Given the description of an element on the screen output the (x, y) to click on. 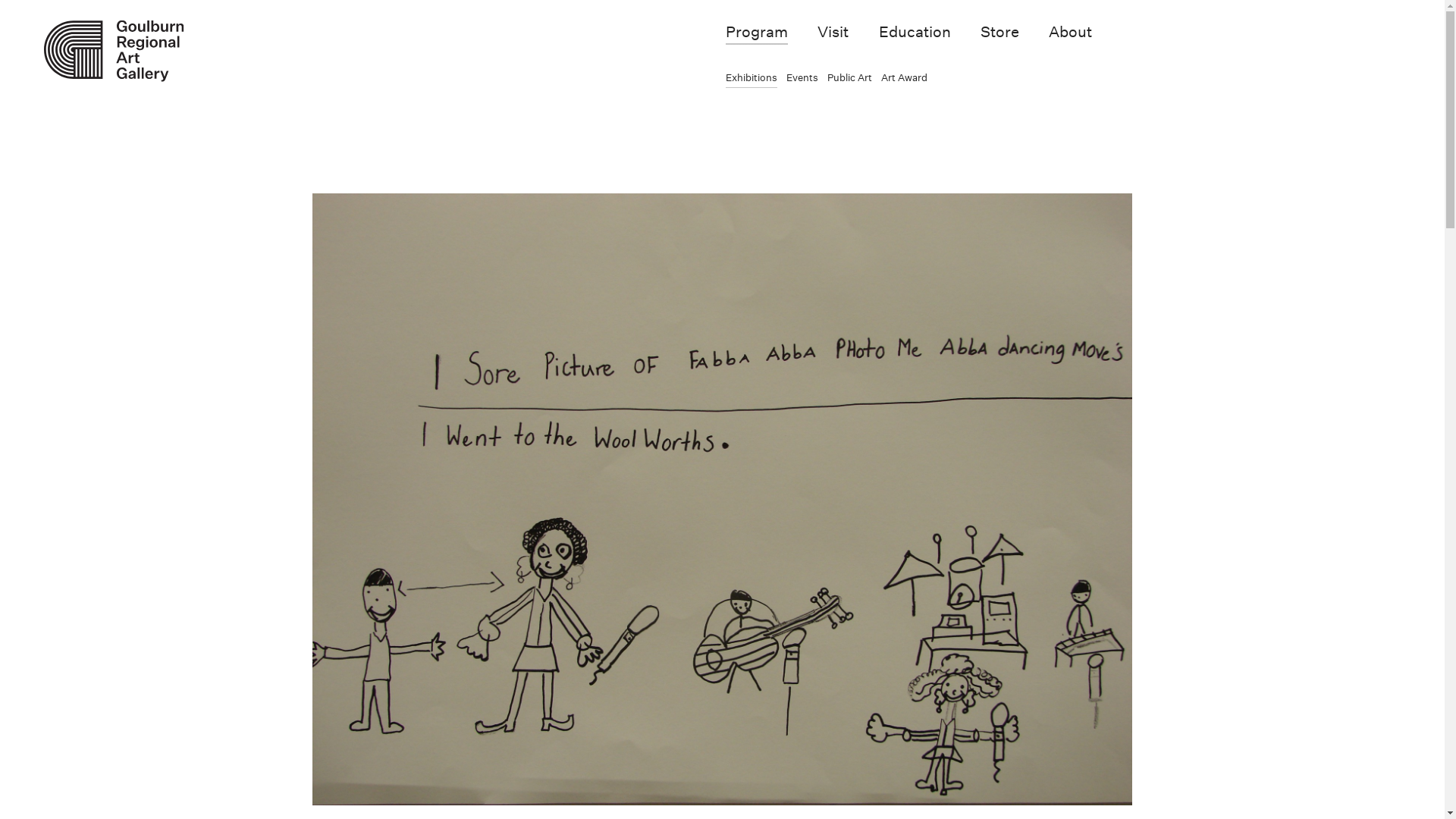
Store Element type: text (999, 31)
About Element type: text (1070, 31)
Art Award Element type: text (904, 77)
Public Art Element type: text (849, 77)
Program Element type: text (756, 31)
Visit Element type: text (832, 31)
Education Element type: text (914, 31)
Events Element type: text (802, 77)
Exhibitions Element type: text (751, 77)
